Given the description of an element on the screen output the (x, y) to click on. 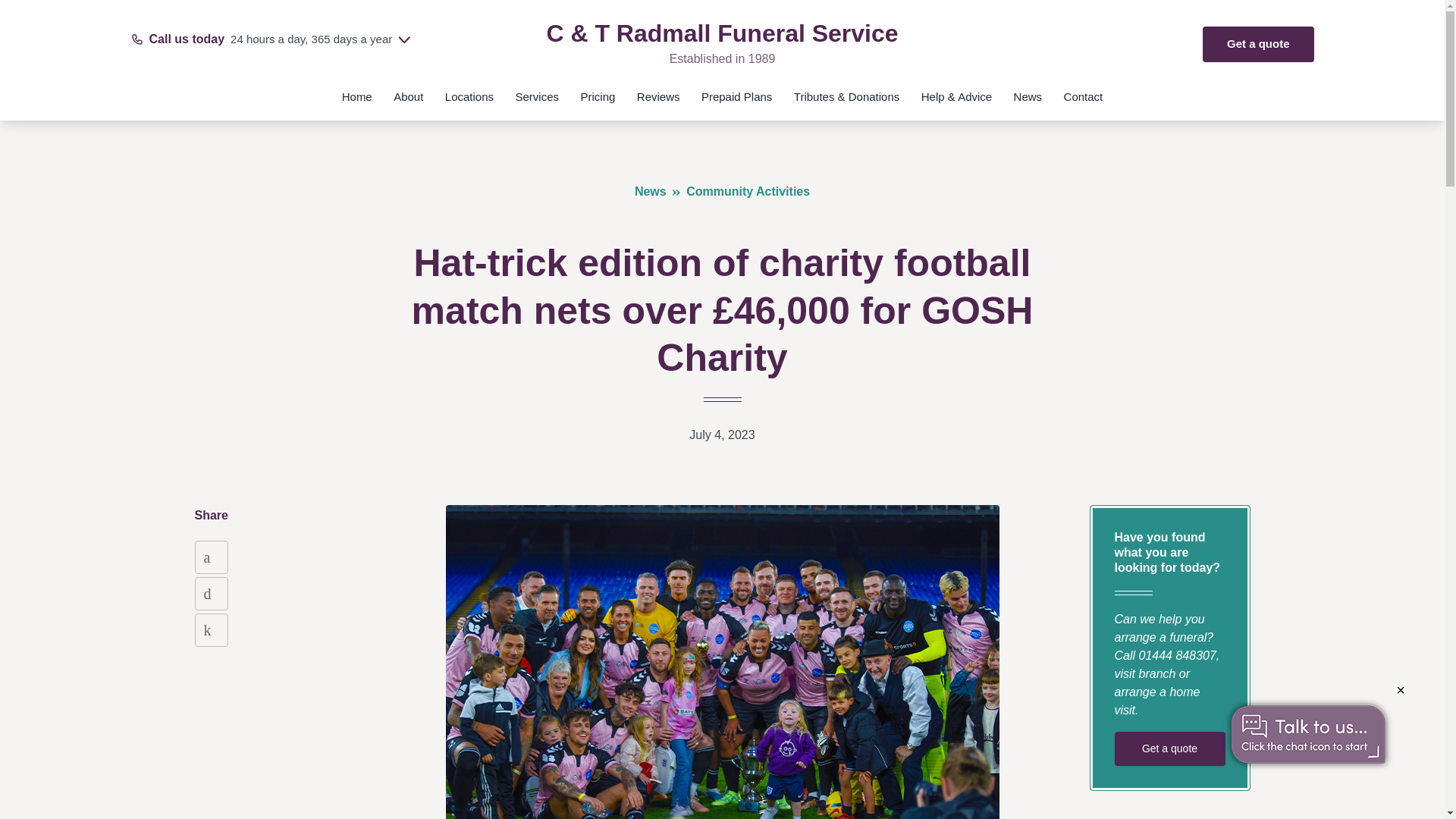
Locations (468, 103)
About (408, 103)
Share on Twitter (210, 593)
Share on Facebook (210, 557)
Home (357, 103)
Services (278, 43)
LiveChat chat widget (537, 103)
Pricing (1403, 783)
Share on LinkedIn (597, 103)
